Given the description of an element on the screen output the (x, y) to click on. 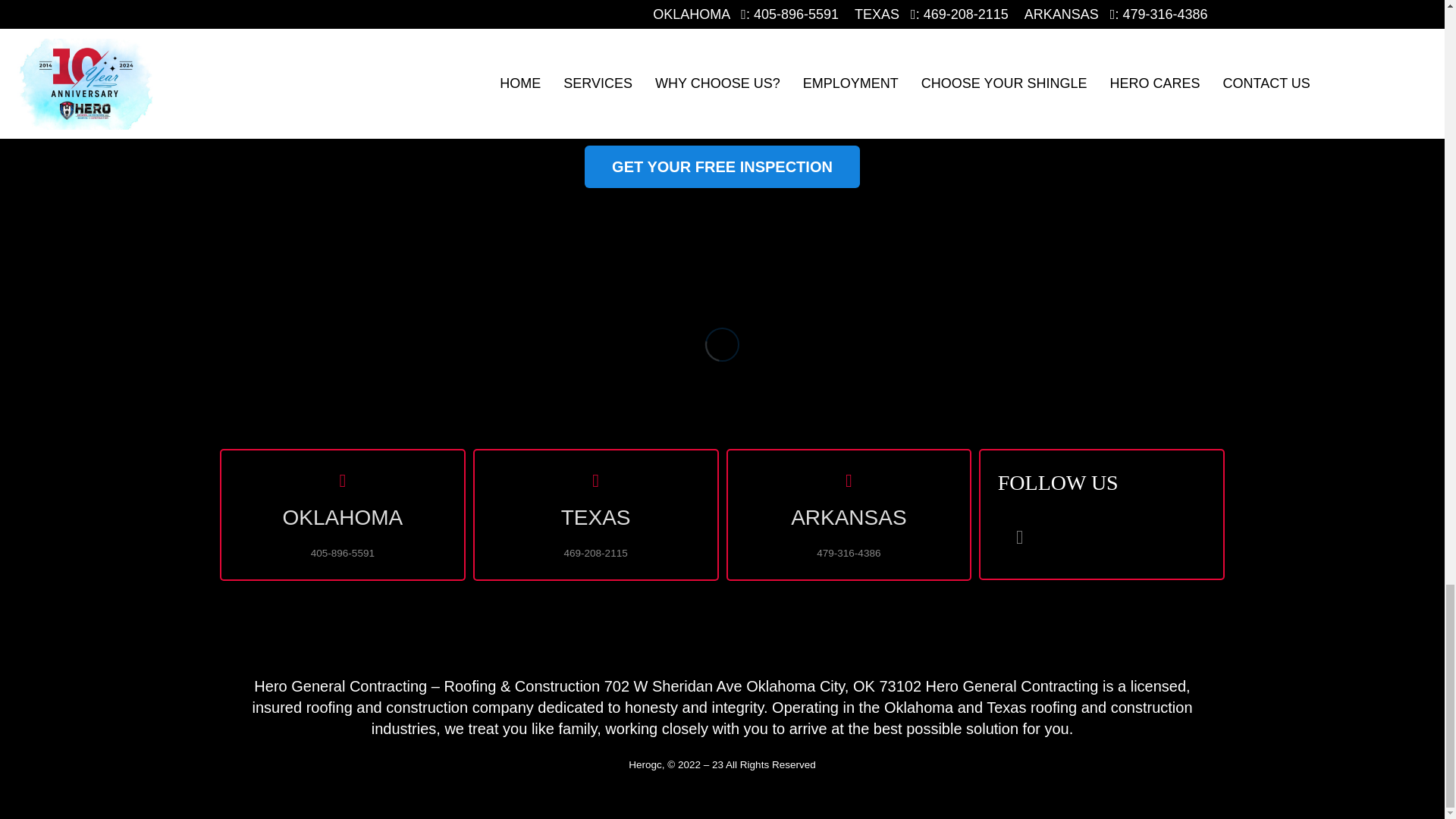
GET YOUR FREE INSPECTION (722, 166)
2. HOW LONG DOES A ROOFTOP REPLACEMENT TAKE TO BE COMPLETED? (721, 18)
TEXAS (596, 506)
ARKANSAS (848, 506)
OKLAHOMA (342, 506)
